Given the description of an element on the screen output the (x, y) to click on. 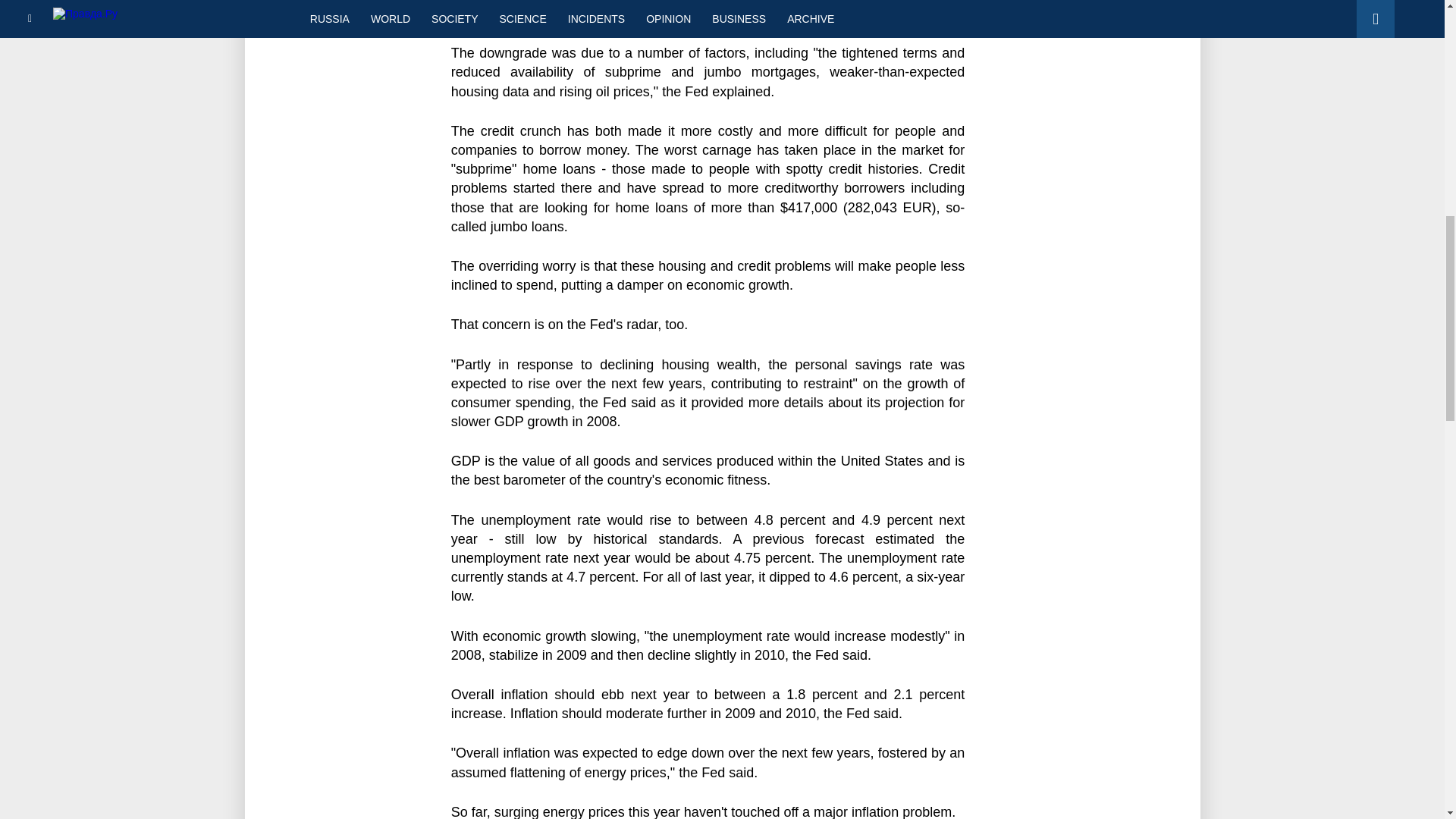
Back to top (1418, 79)
